Given the description of an element on the screen output the (x, y) to click on. 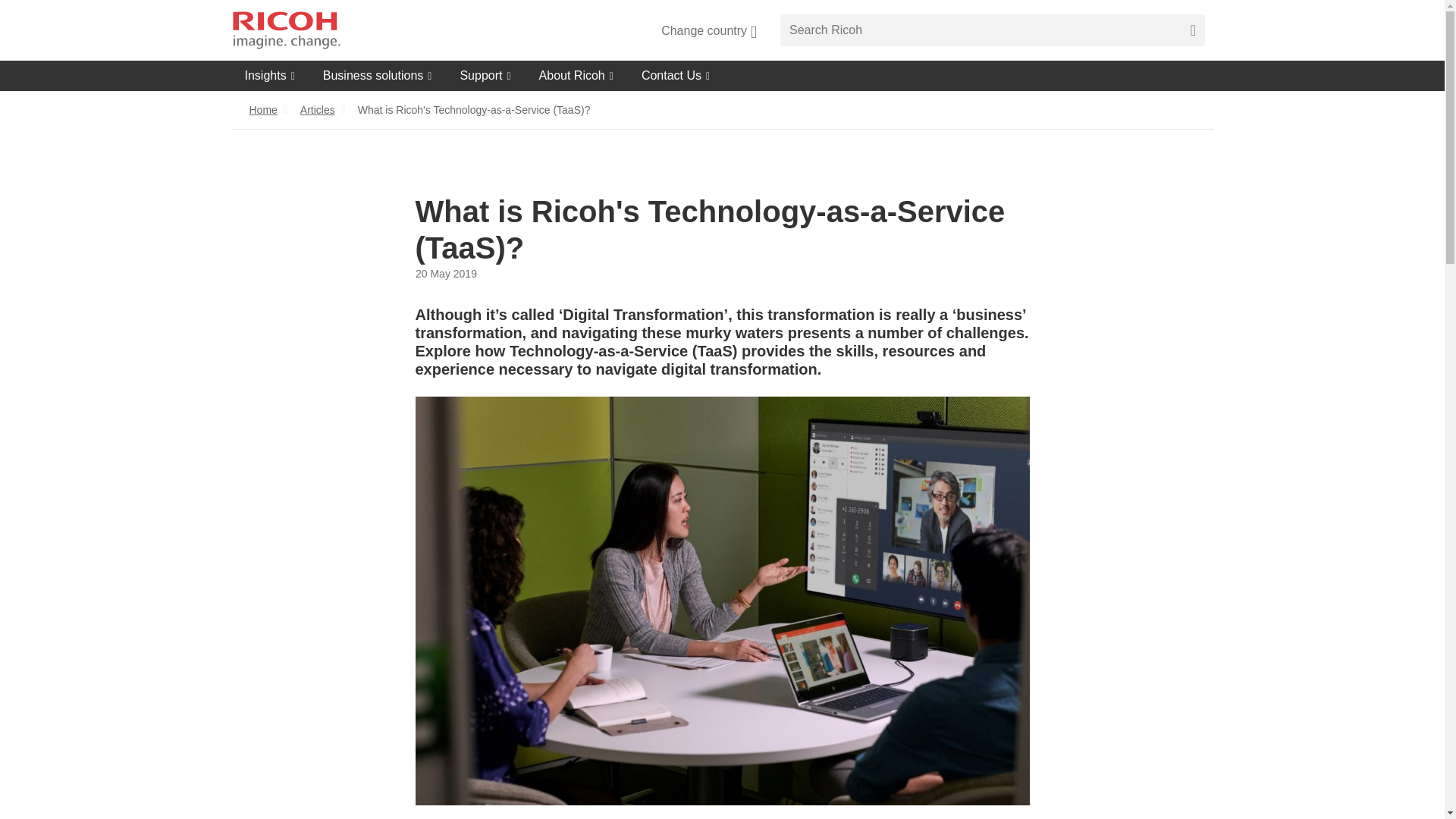
Business solutions (377, 75)
Return to the Homepage (285, 29)
Insights (269, 75)
Change country (709, 30)
